Given the description of an element on the screen output the (x, y) to click on. 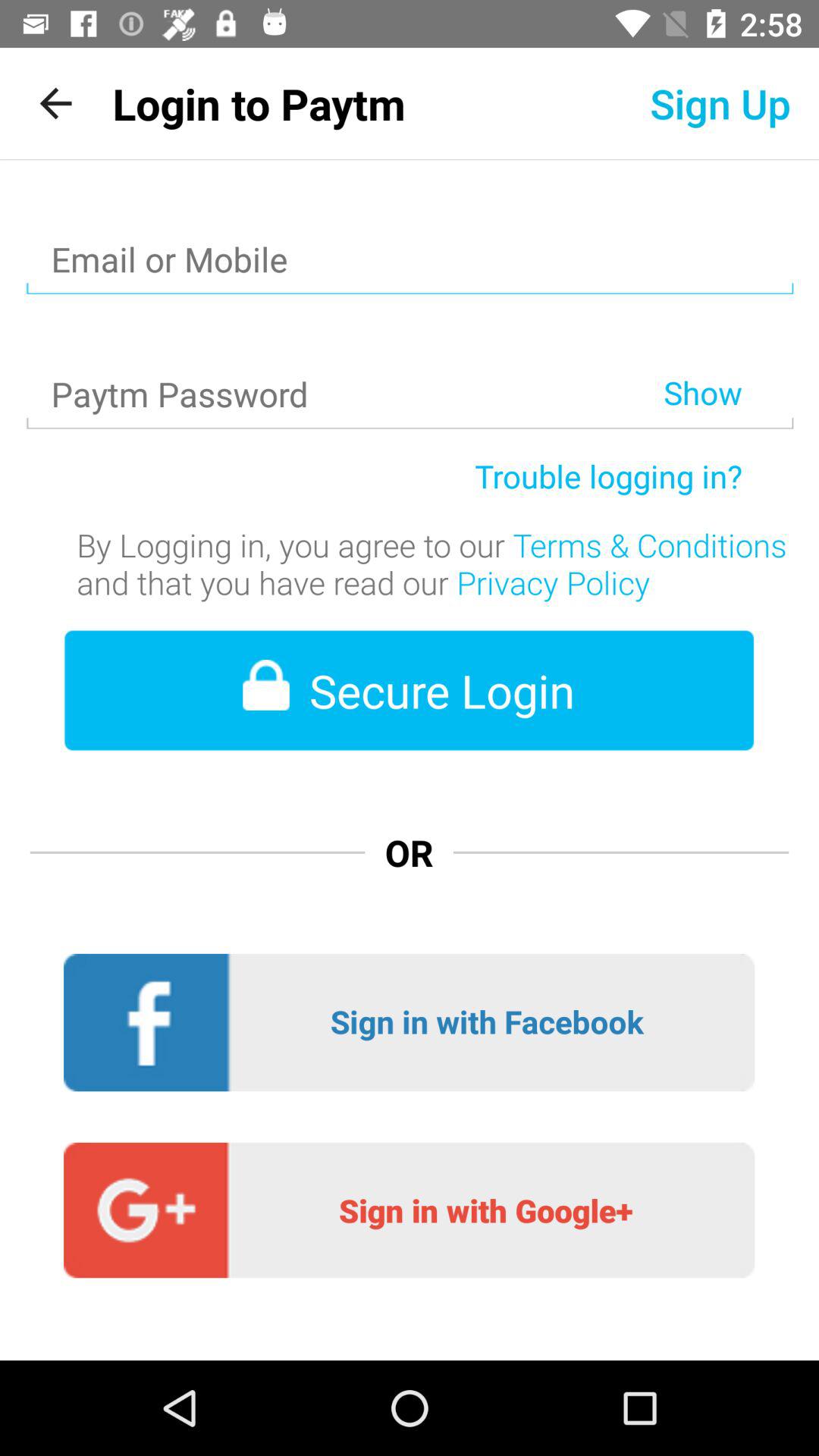
turn off the show icon (728, 354)
